Given the description of an element on the screen output the (x, y) to click on. 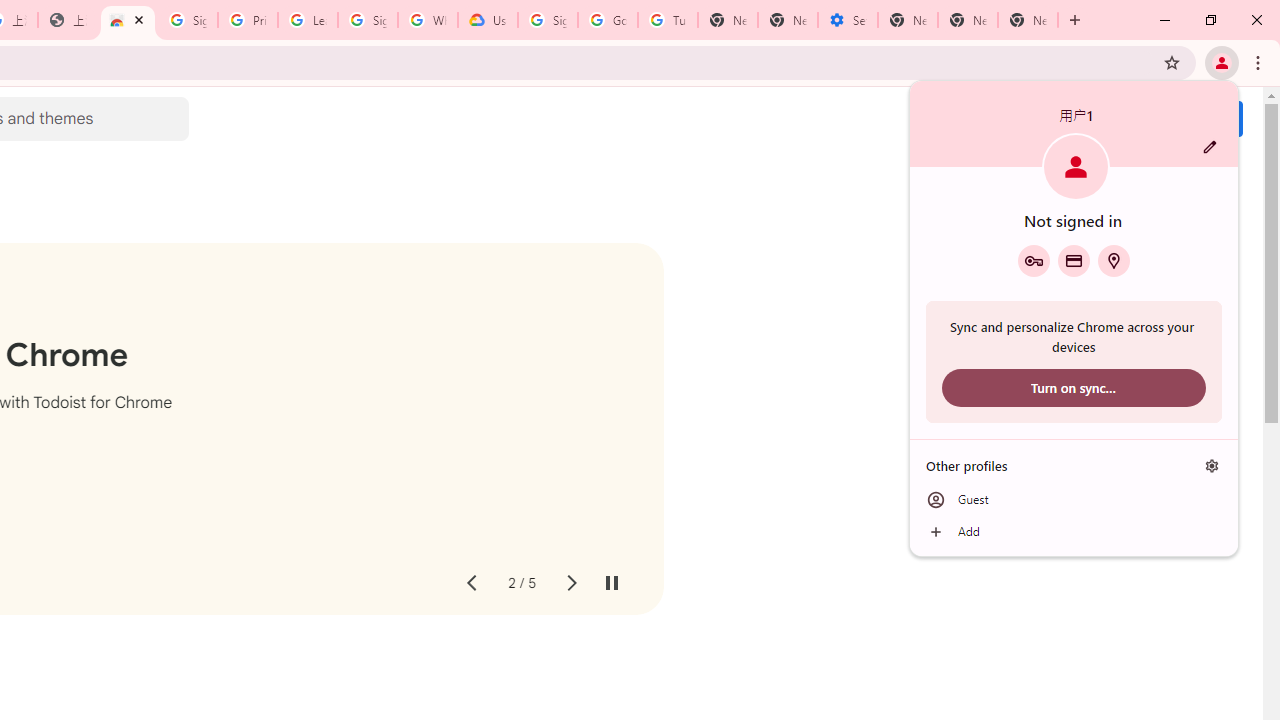
Manage profiles (1211, 465)
